Given the description of an element on the screen output the (x, y) to click on. 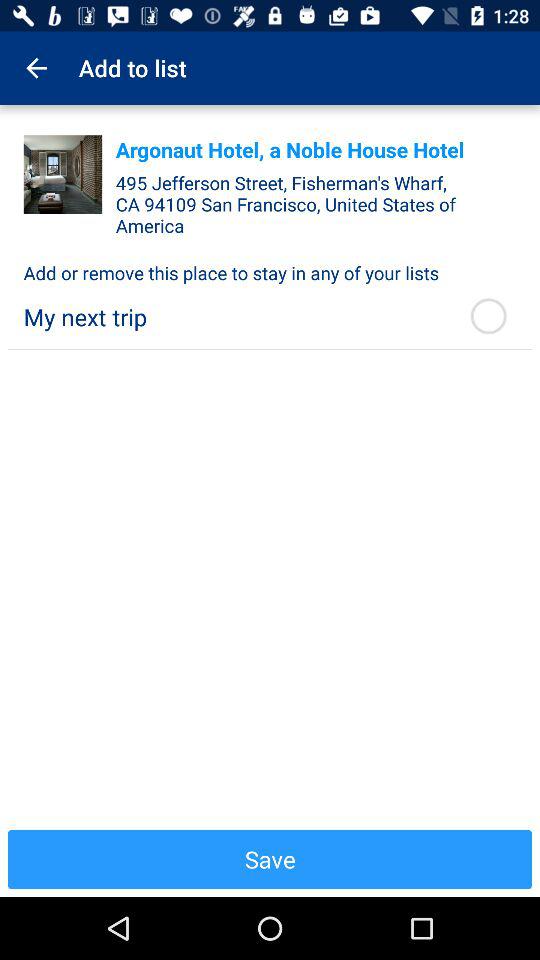
click the item next to the argonaut hotel a app (62, 174)
